Given the description of an element on the screen output the (x, y) to click on. 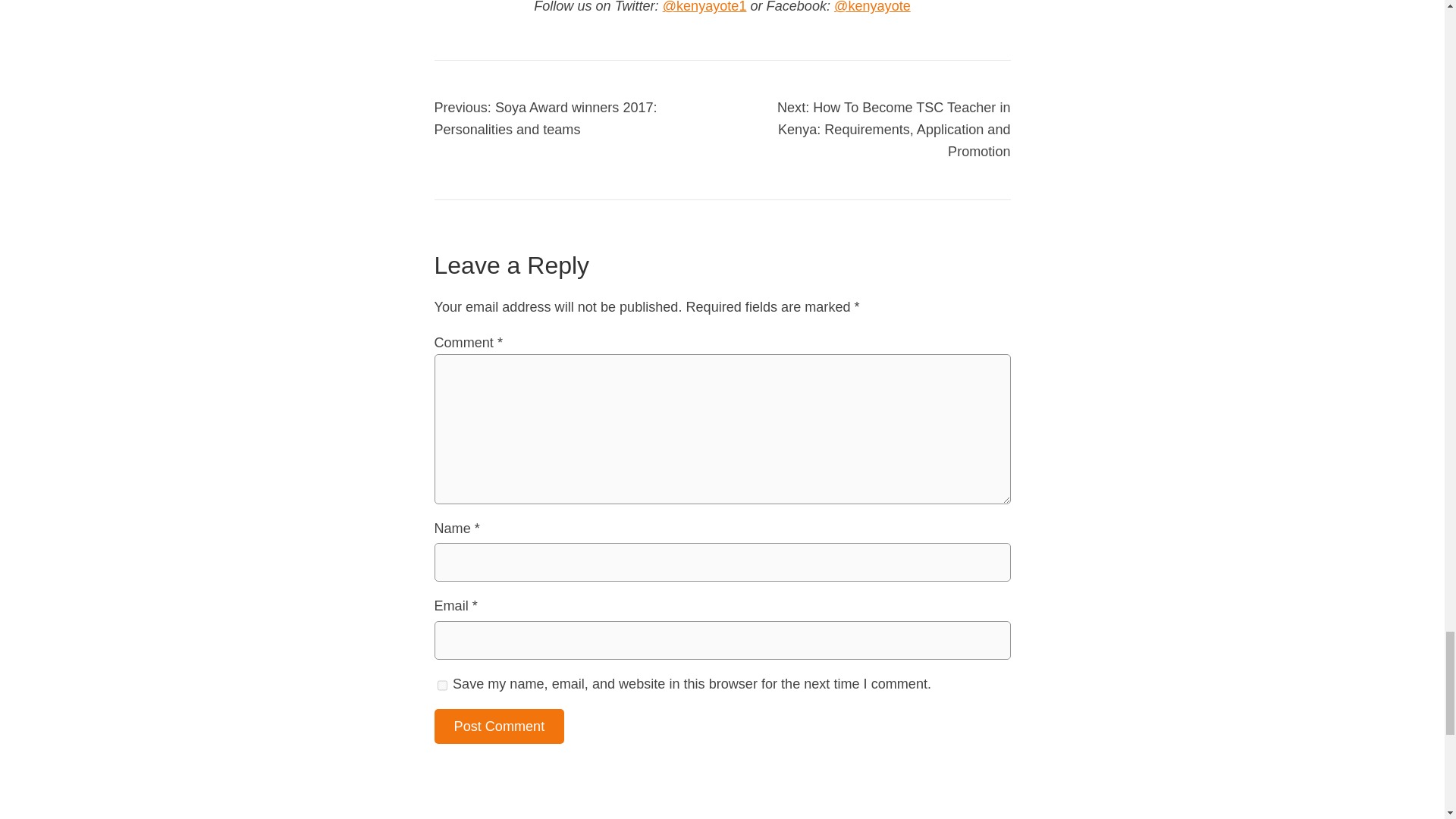
Post Comment (498, 726)
Previous: Soya Award winners 2017: Personalities and teams (544, 118)
Post Comment (498, 726)
